Given the description of an element on the screen output the (x, y) to click on. 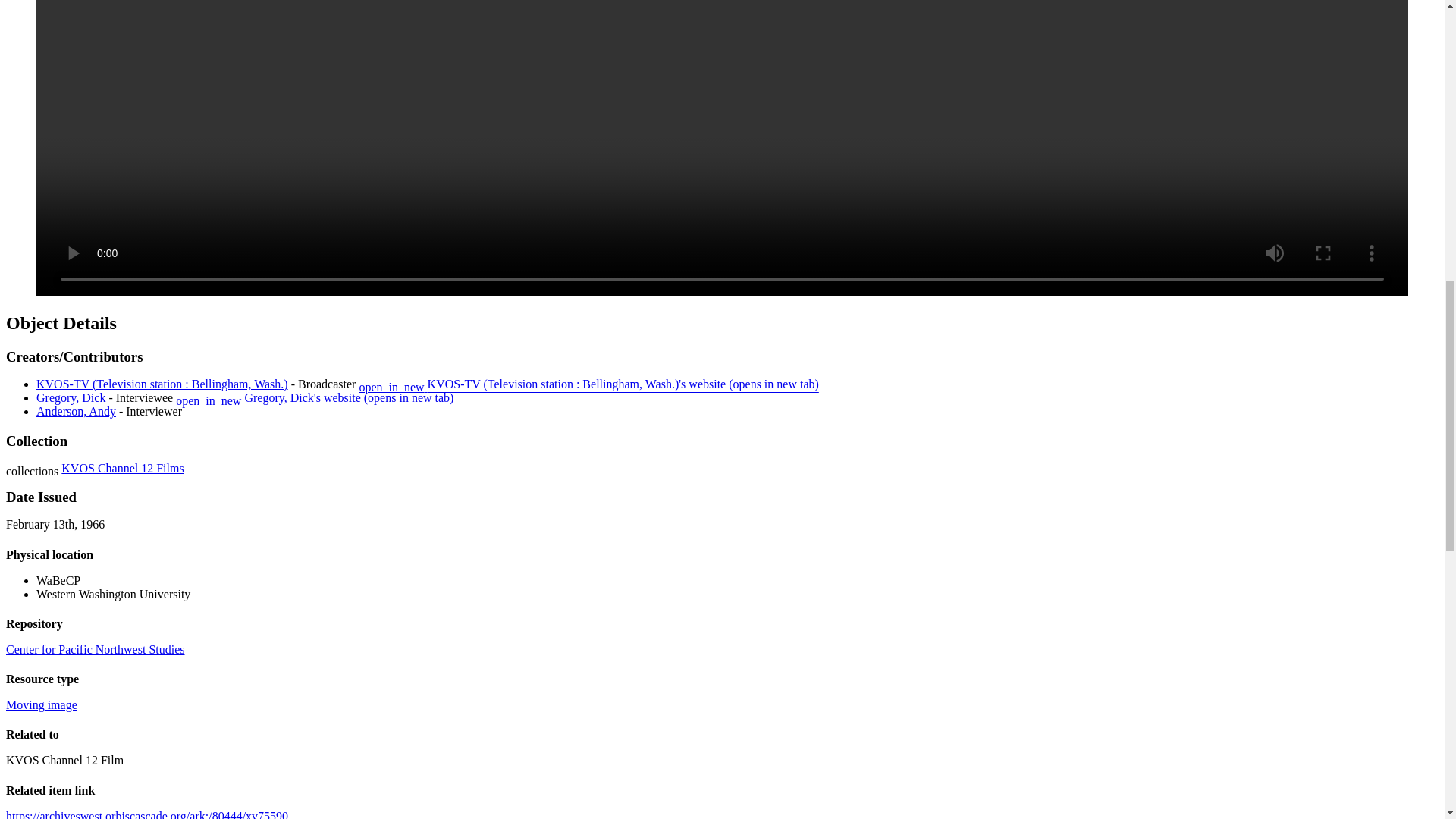
Center for Pacific Northwest Studies (94, 649)
Moving image (41, 704)
Anderson, Andy (76, 410)
Gregory, Dick (70, 397)
KVOS Channel 12 Films (122, 468)
